Given the description of an element on the screen output the (x, y) to click on. 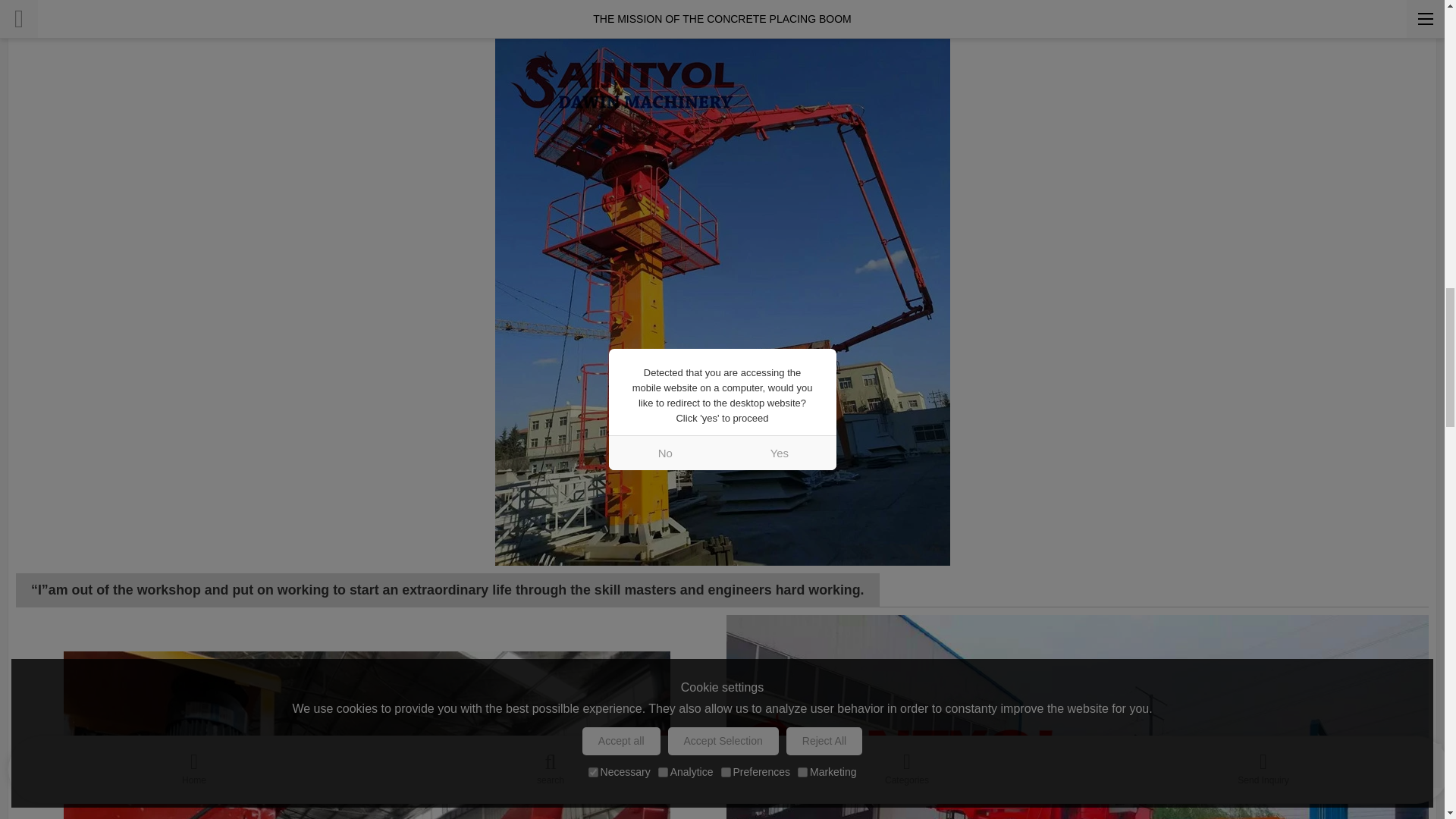
concrete placing boom prices (366, 735)
